Given the description of an element on the screen output the (x, y) to click on. 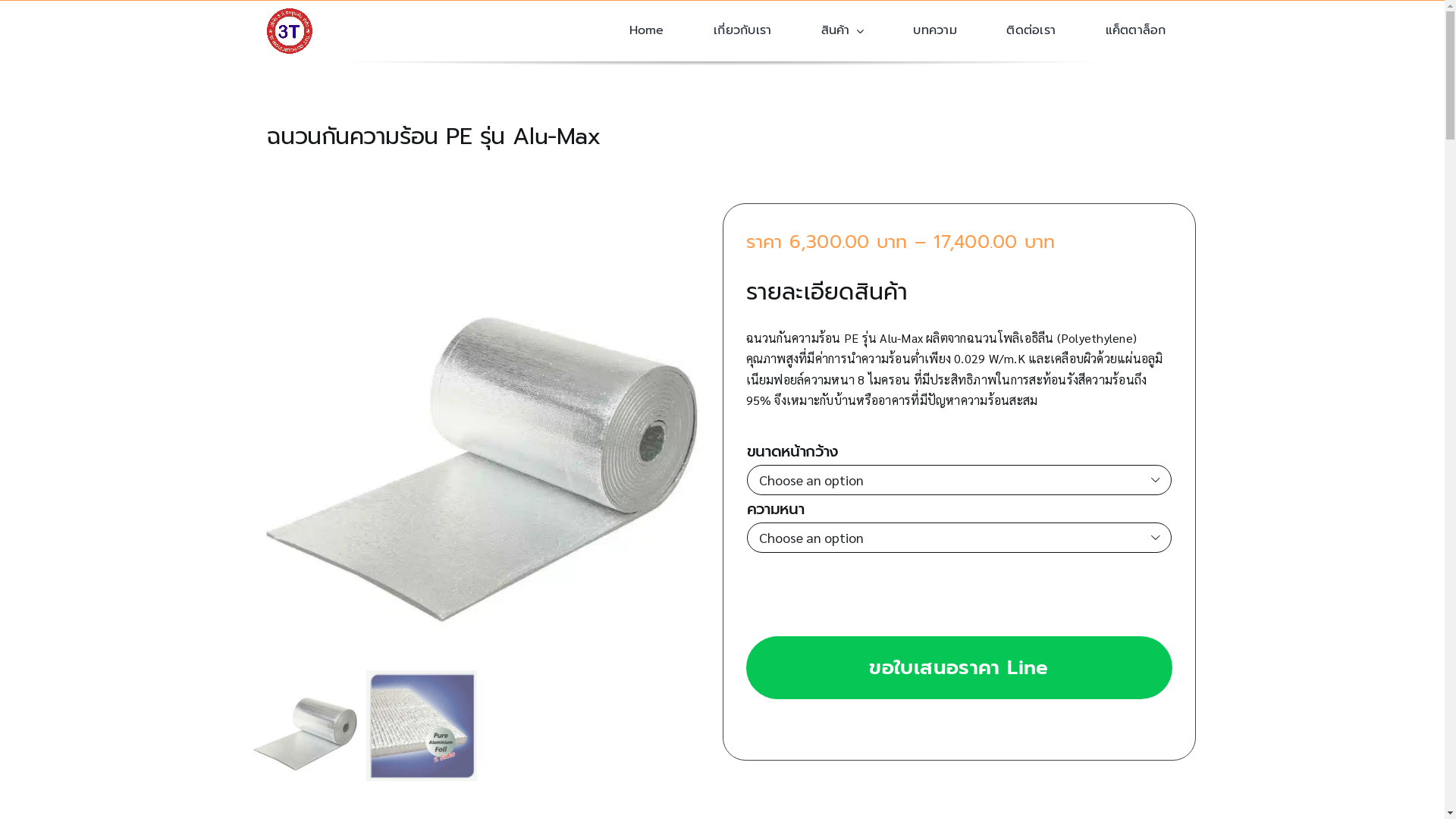
Add to cart Element type: text (891, 584)
PE-Standard Element type: hover (479, 213)
PE-Standard Element type: hover (479, 434)
Home Element type: text (646, 30)
